Given the description of an element on the screen output the (x, y) to click on. 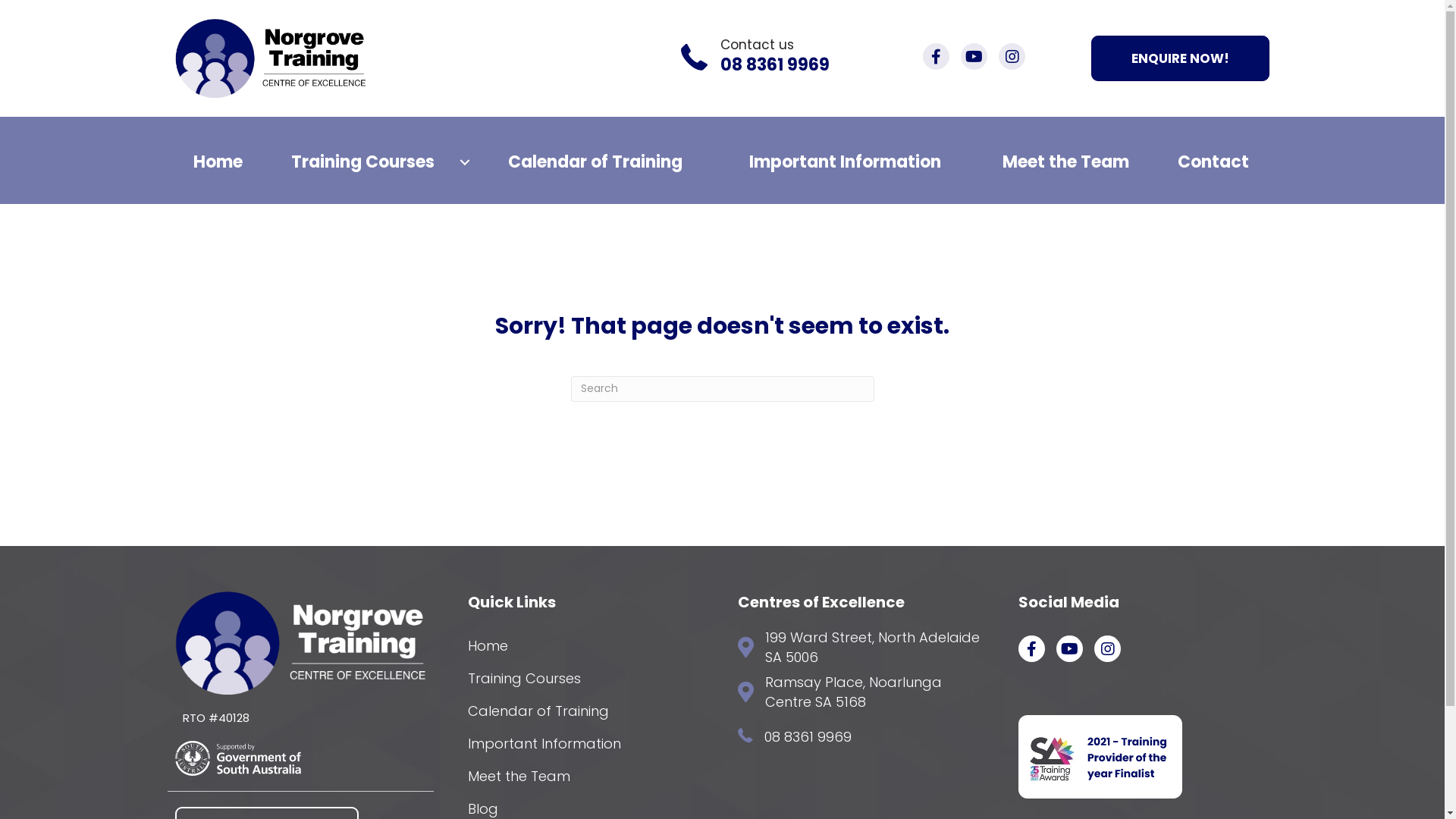
Training Courses Element type: text (368, 162)
Calendar of Training Element type: text (595, 162)
Home Element type: text (217, 162)
Type and press Enter to search. Element type: hover (721, 388)
Contact Element type: text (1212, 162)
08 8361 9969 Element type: text (807, 736)
Meet the Team Element type: text (1065, 162)
Home Element type: text (581, 645)
Training Courses Element type: text (581, 678)
199 Ward Street, North Adelaide SA 5006 Element type: text (876, 647)
Ramsay Place, Noarlunga Centre SA 5168 Element type: text (876, 692)
Meet the Team Element type: text (581, 776)
Important Information Element type: text (844, 162)
Calendar of Training Element type: text (581, 710)
sagov Element type: hover (238, 757)
Important Information Element type: text (581, 743)
ENQUIRE NOW! Element type: text (1180, 58)
training Element type: hover (1100, 756)
